Given the description of an element on the screen output the (x, y) to click on. 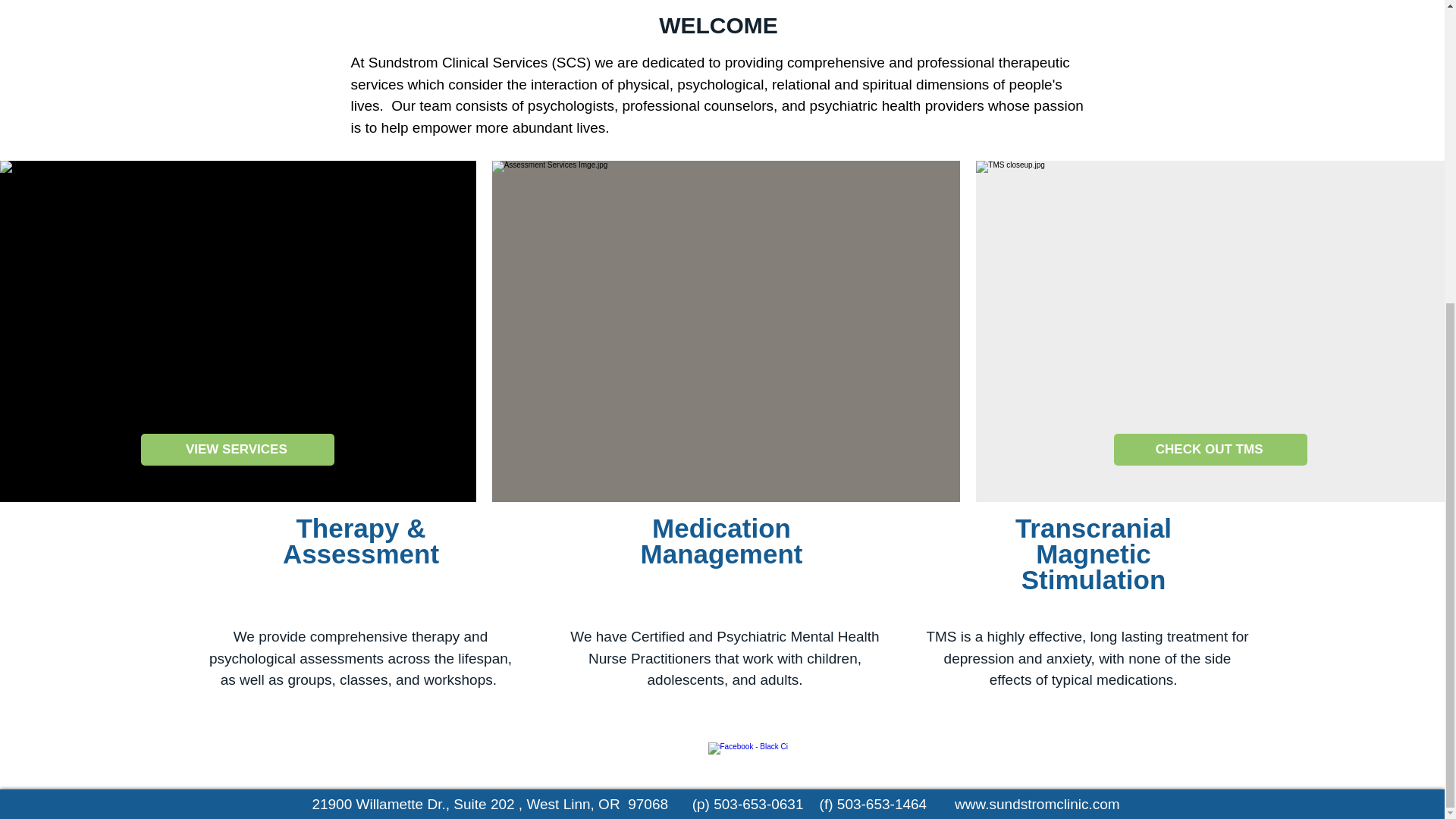
CHECK OUT TMS (1210, 450)
VIEW SERVICES (237, 450)
www.sundstromclinic.com (1037, 804)
